Given the description of an element on the screen output the (x, y) to click on. 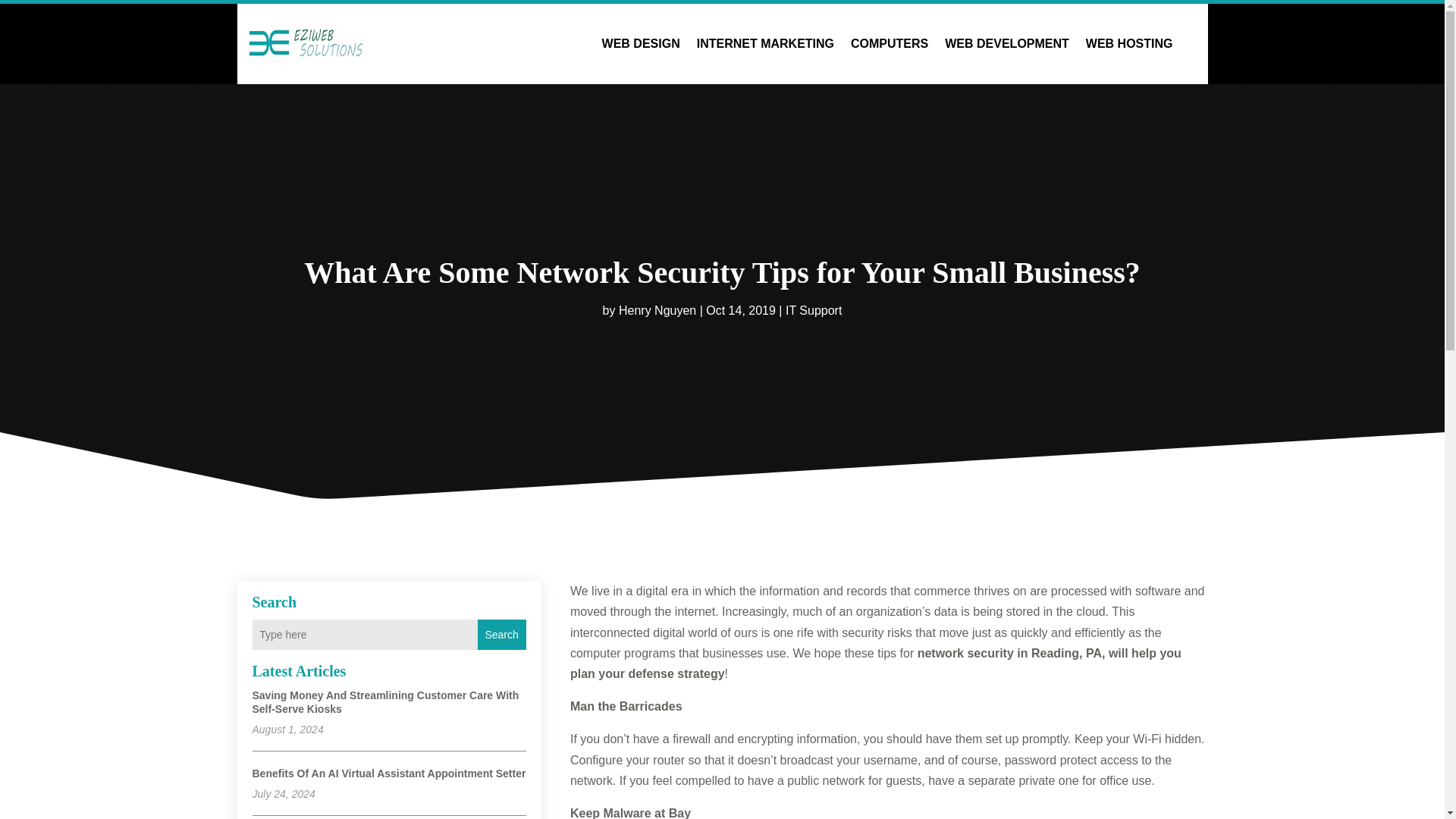
Henry Nguyen (656, 309)
Benefits Of An AI Virtual Assistant Appointment Setter (388, 773)
Posts by Henry Nguyen (656, 309)
IT Support (813, 309)
WEB HOSTING (1129, 43)
WEB DESIGN (640, 43)
INTERNET MARKETING (765, 43)
COMPUTERS (889, 43)
Search (501, 634)
